Given the description of an element on the screen output the (x, y) to click on. 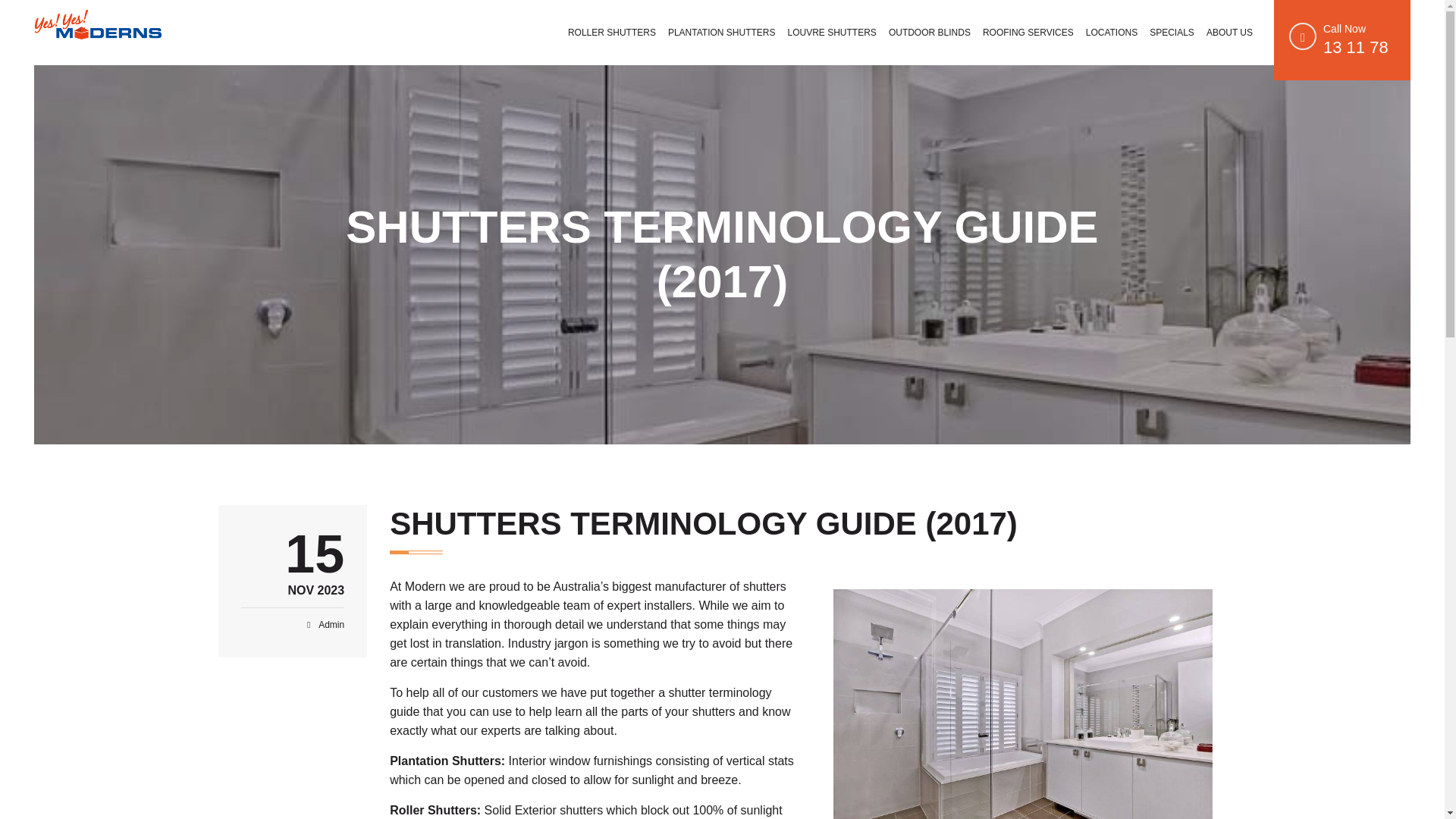
ROOFING SERVICES (1028, 32)
LOUVRE SHUTTERS (831, 32)
SPECIALS (1170, 32)
ABOUT US (1229, 32)
ROLLER SHUTTERS (612, 32)
LOCATIONS (1111, 32)
OUTDOOR BLINDS (929, 32)
PLANTATION SHUTTERS (721, 32)
